Given the description of an element on the screen output the (x, y) to click on. 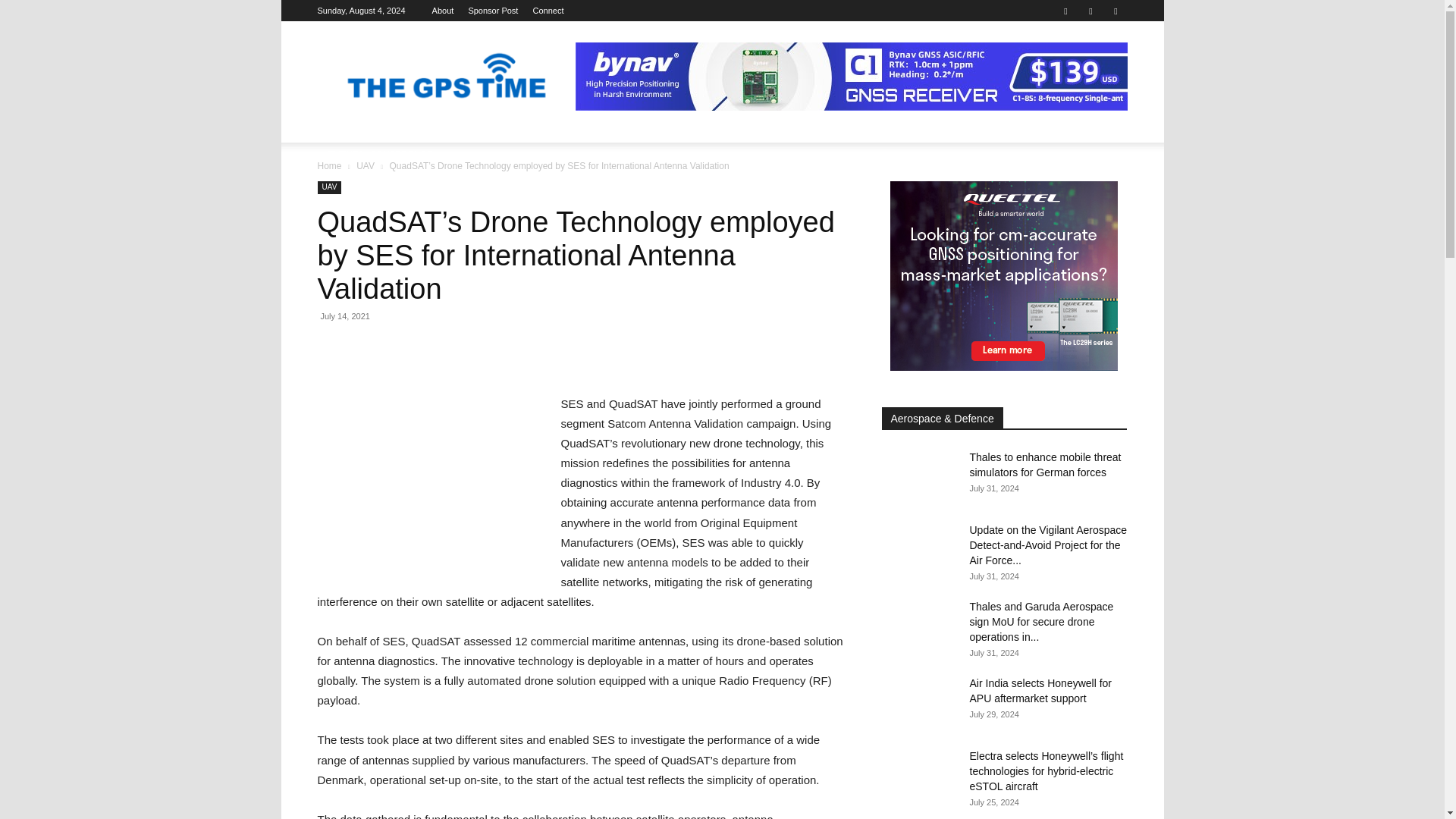
Connect (547, 10)
View all posts in UAV (365, 165)
About (443, 10)
Twitter (1114, 10)
Linkedin (1090, 10)
HOME (341, 129)
Facebook (1065, 10)
Sponsor Post (492, 10)
